Given the description of an element on the screen output the (x, y) to click on. 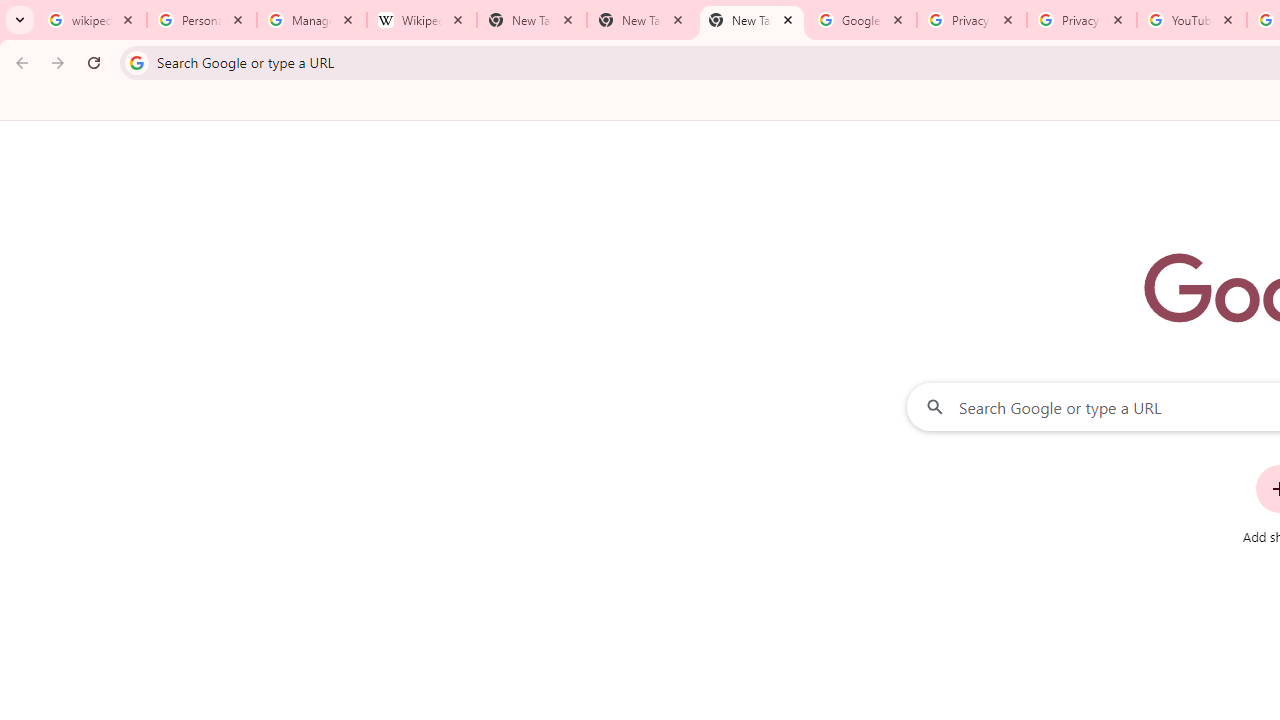
Manage your Location History - Google Search Help (312, 20)
